Given the description of an element on the screen output the (x, y) to click on. 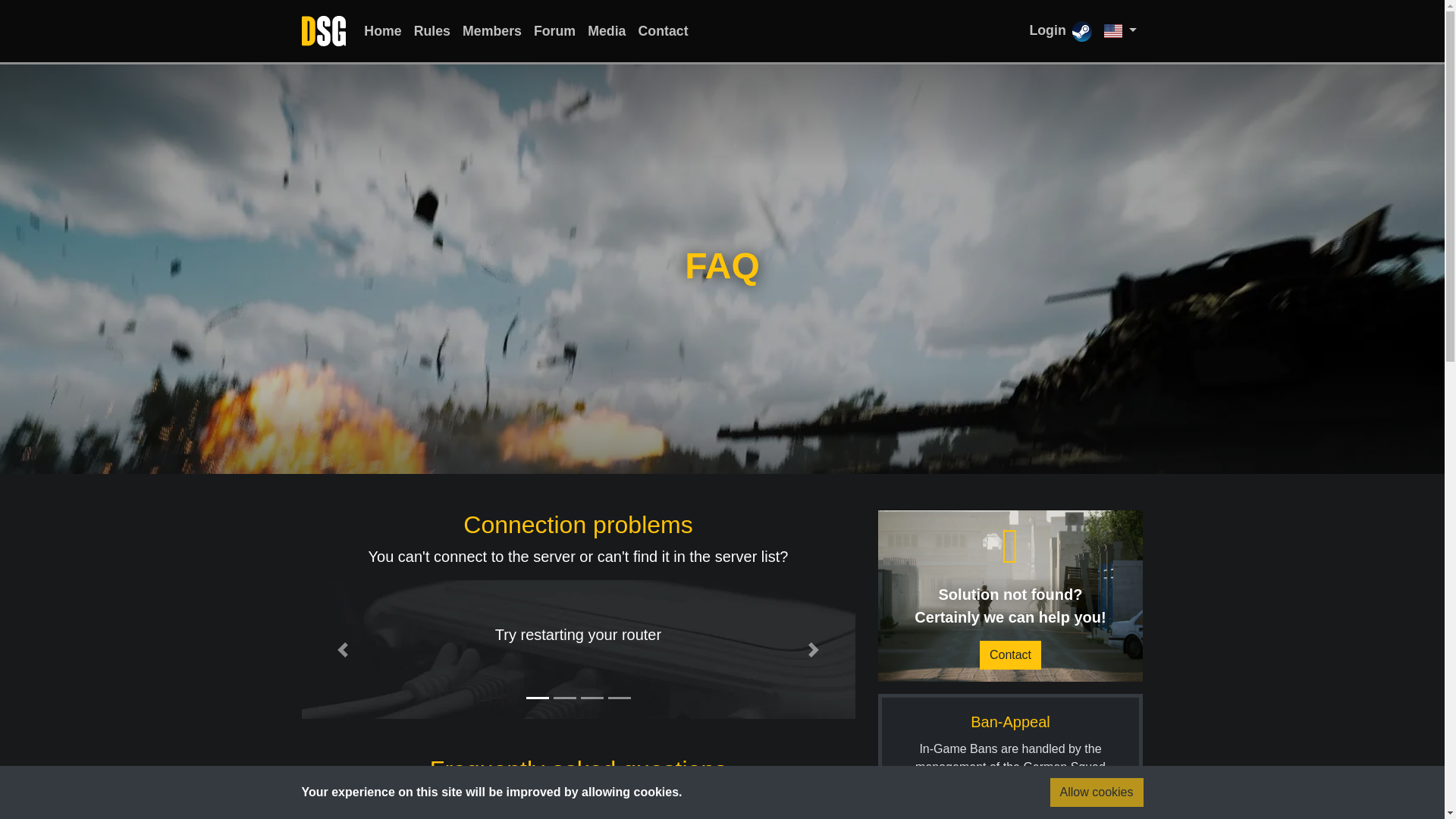
Forum (553, 31)
Media (605, 31)
Contact (1010, 654)
Contact (662, 31)
Next (813, 649)
Forum (553, 31)
Previous (343, 649)
Home (382, 31)
Home (382, 31)
Rules (432, 31)
Deutsche Squad Gemeinschaft (1098, 802)
Members (492, 31)
Login (1060, 30)
Contact (662, 31)
Media (605, 31)
